Given the description of an element on the screen output the (x, y) to click on. 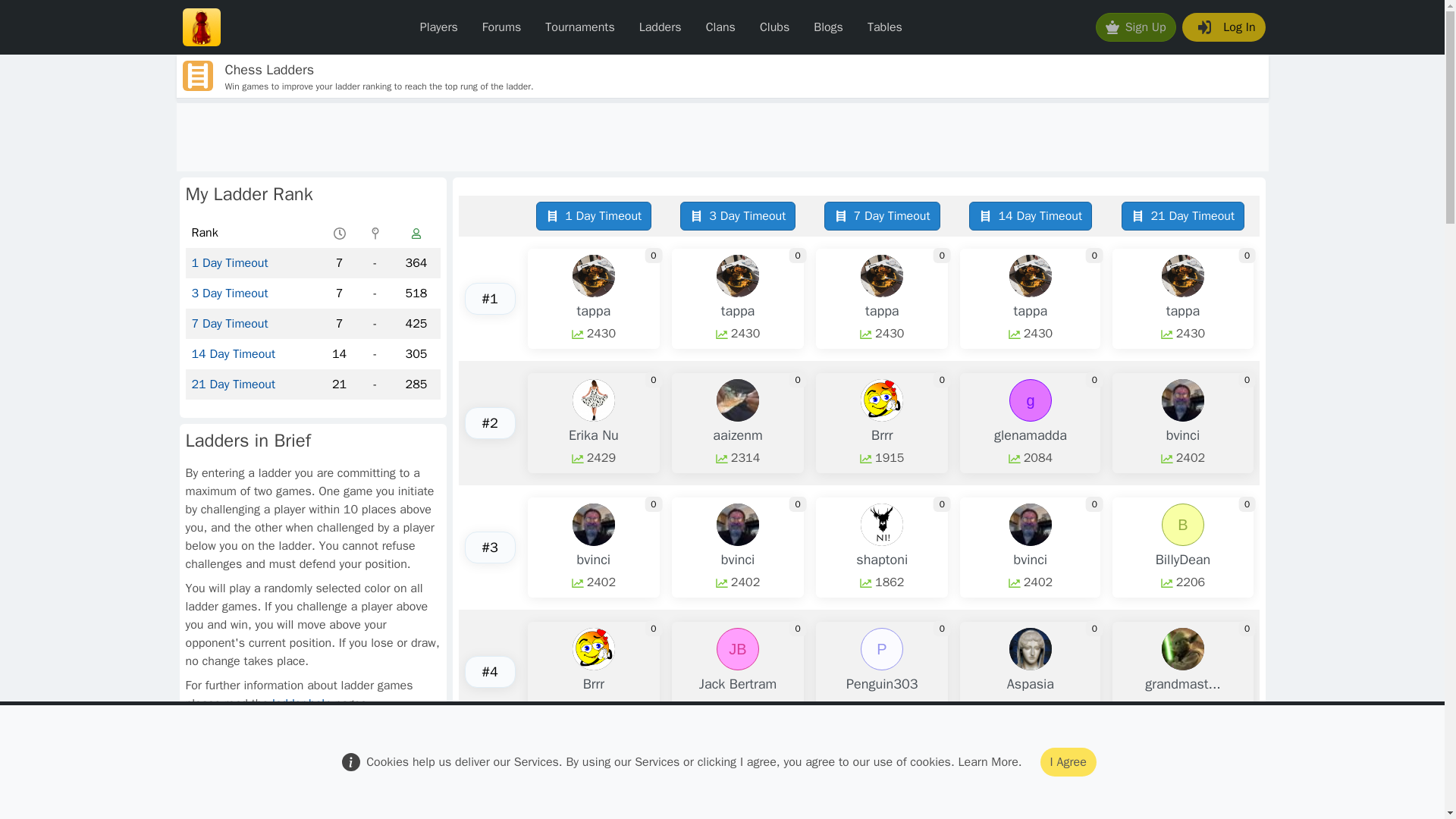
MOW (1182, 773)
Forums (501, 27)
Log In (1223, 27)
tappa (593, 310)
tappa (737, 310)
glenamadda (1030, 435)
tappa (1030, 310)
Clubs (775, 27)
g (1030, 400)
Blogs (829, 27)
